Given the description of an element on the screen output the (x, y) to click on. 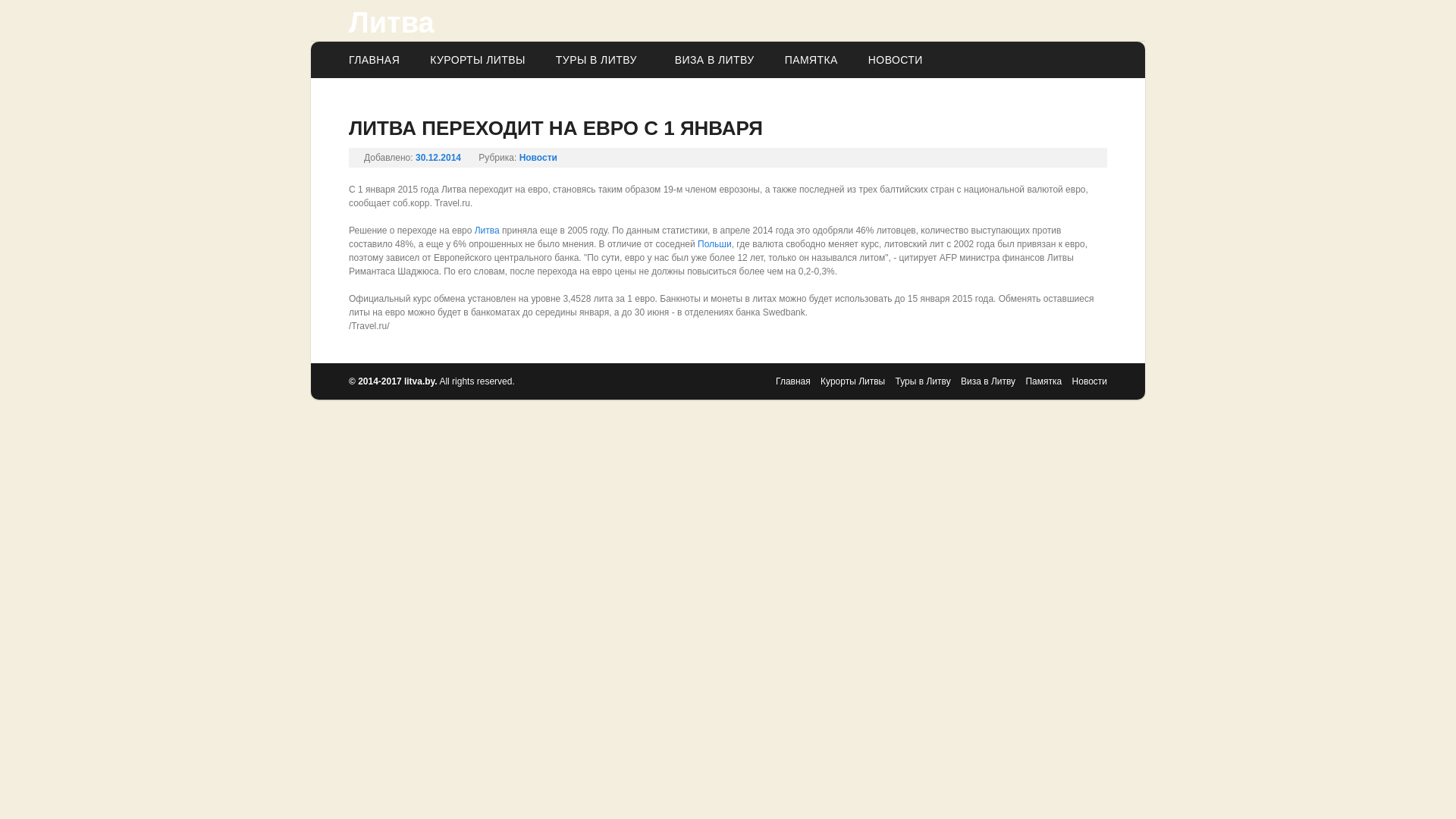
30.12.2014 Element type: text (438, 157)
